Given the description of an element on the screen output the (x, y) to click on. 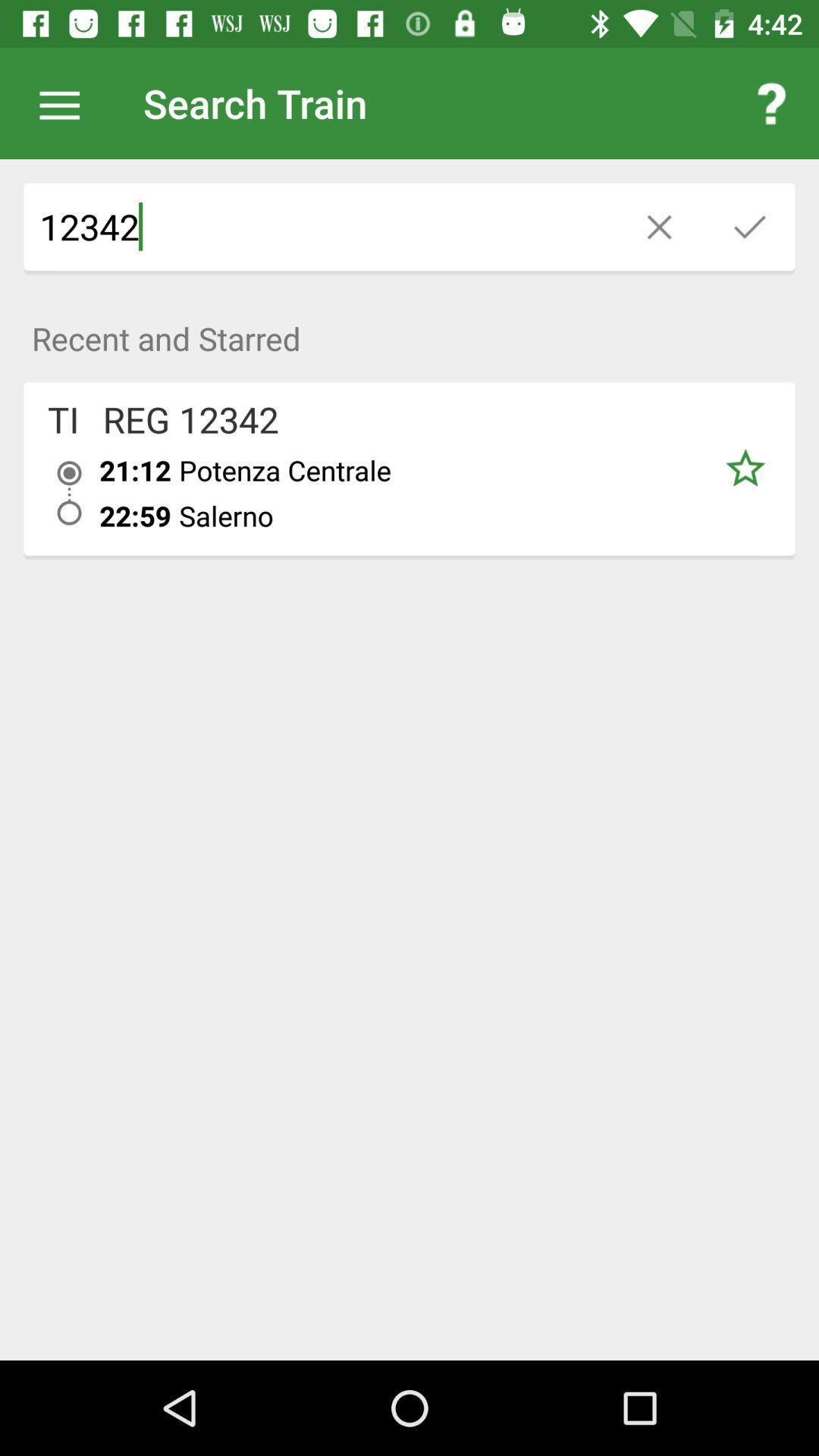
flip to 22:59 (135, 515)
